Given the description of an element on the screen output the (x, y) to click on. 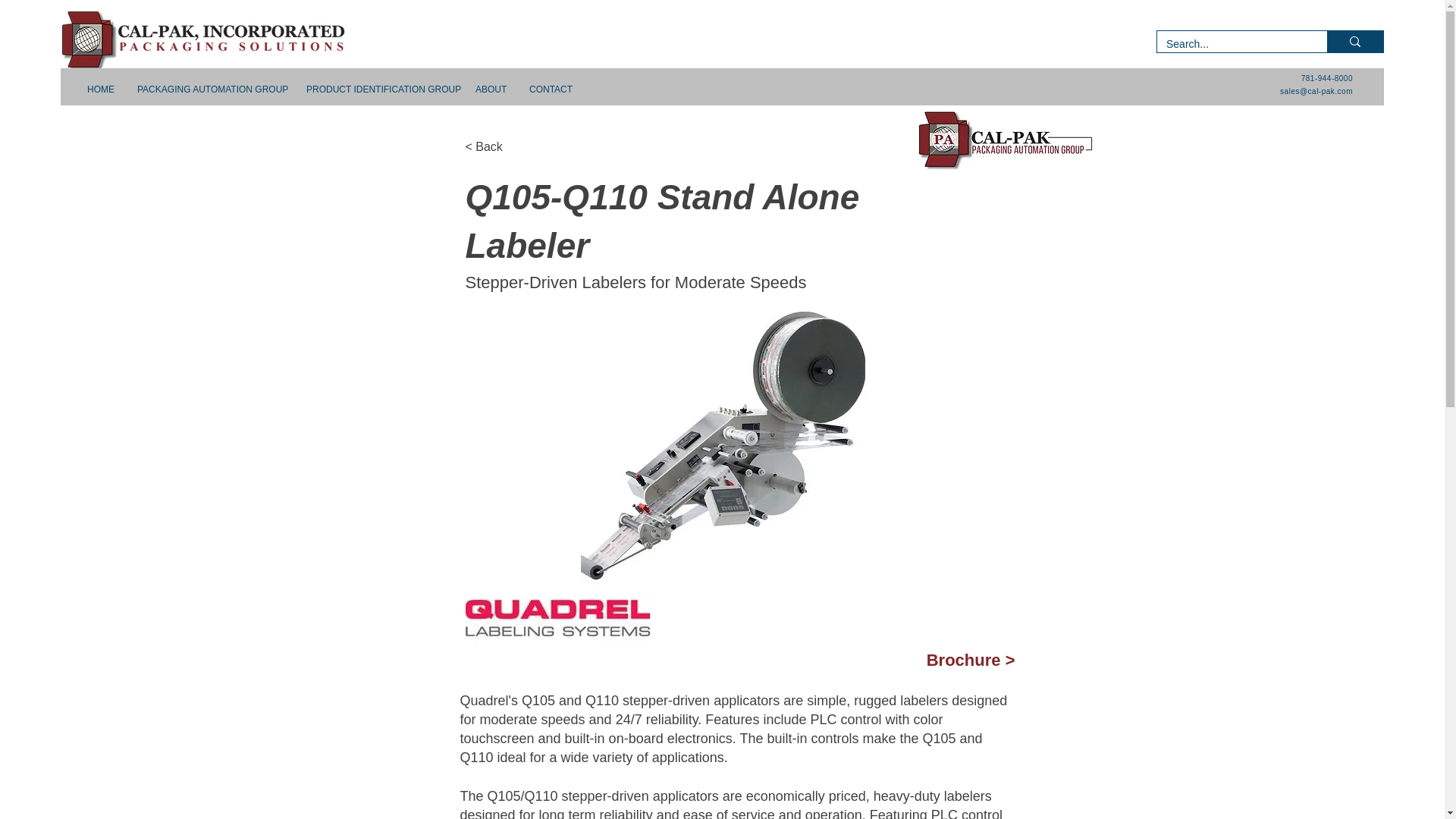
781-944-8000 (1326, 78)
Q-110-stand-alone-Label-applicator.jpg (722, 446)
CONTACT (550, 89)
HOME (100, 89)
PACKAGING AUTOMATION GROUP (210, 89)
ABOUT (491, 89)
Quadrel.jpg (557, 616)
PRODUCT IDENTIFICATION GROUP (379, 89)
